Given the description of an element on the screen output the (x, y) to click on. 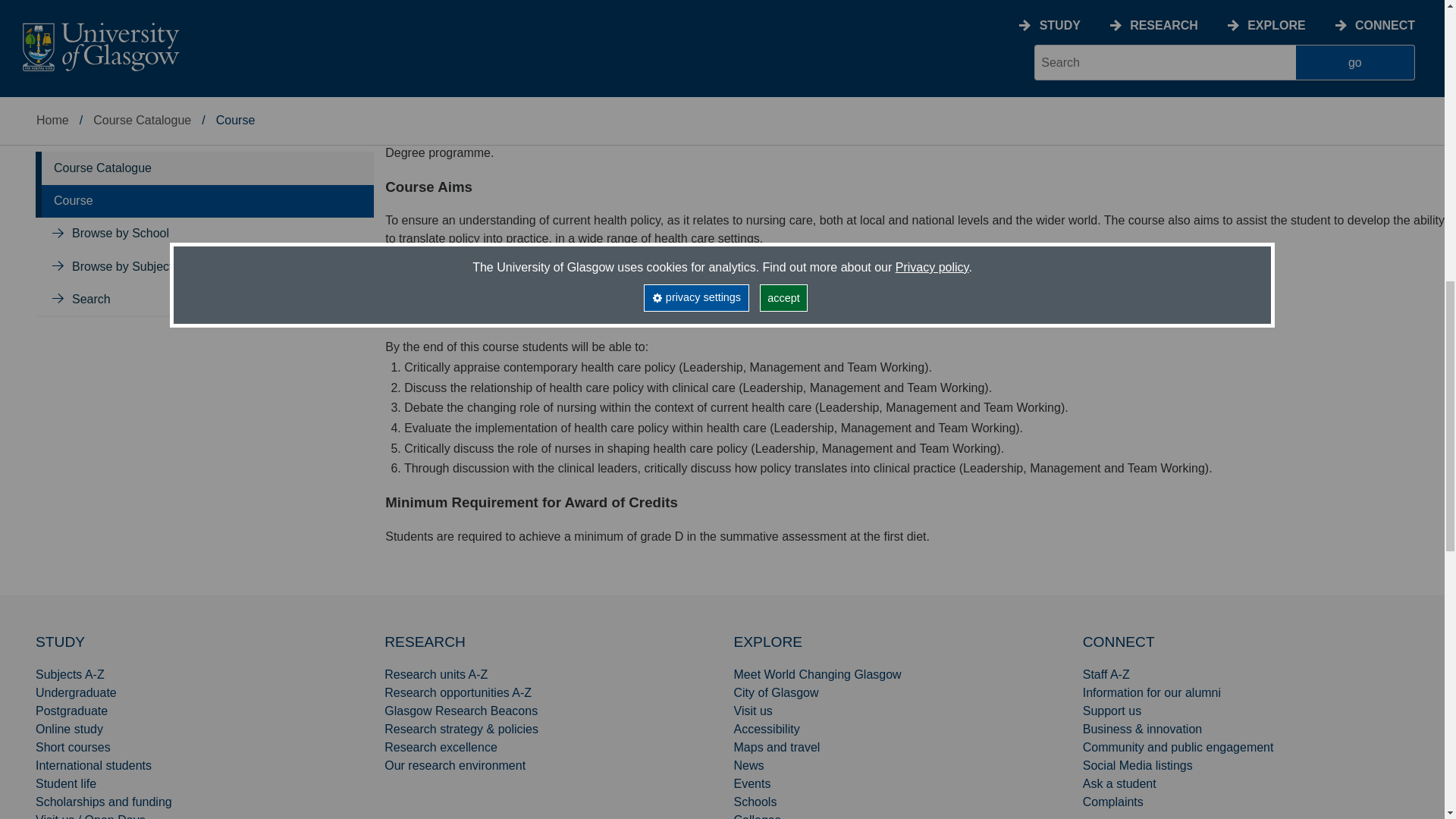
Subjects A-Z (69, 674)
Student life (65, 783)
STUDY (59, 641)
Online study (68, 728)
Undergraduate (75, 692)
Short courses (72, 747)
Postgraduate (70, 710)
International students (92, 765)
